Given the description of an element on the screen output the (x, y) to click on. 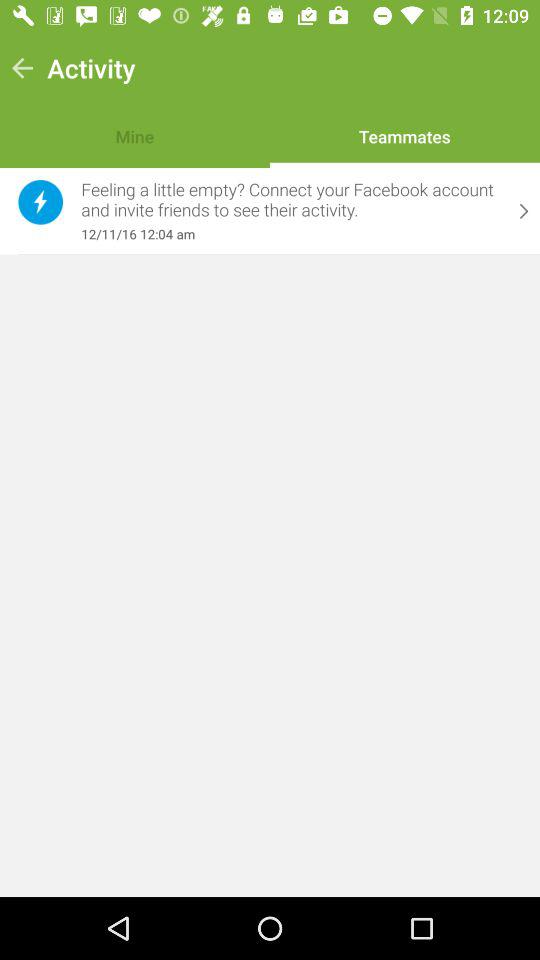
turn on icon above the 12 11 16 (291, 200)
